Given the description of an element on the screen output the (x, y) to click on. 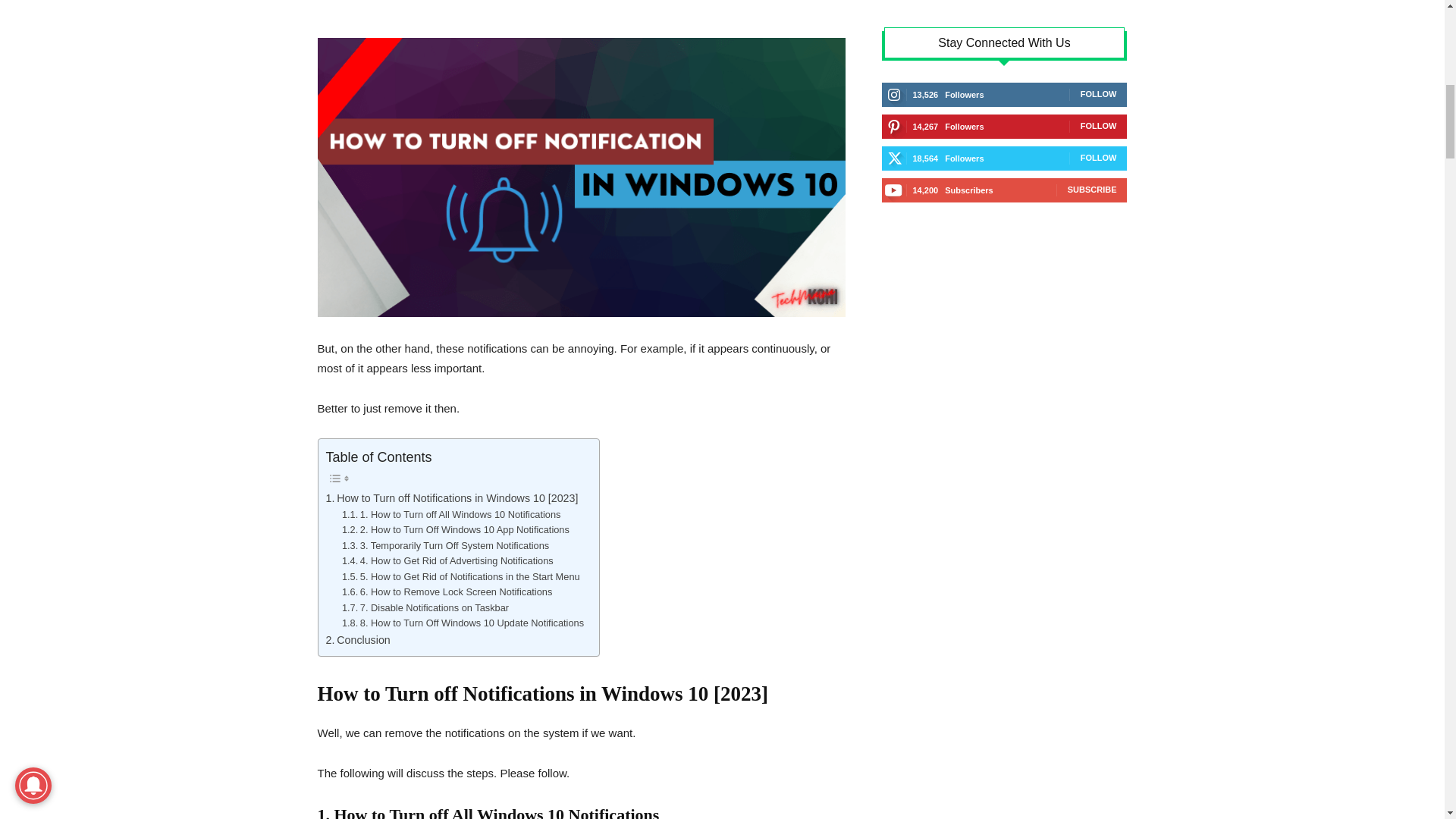
1. How to Turn off All Windows 10 Notifications (451, 514)
6. How to Remove Lock Screen Notifications (446, 592)
4. How to Get Rid of Advertising Notifications (447, 561)
1. How to Turn off All Windows 10 Notifications (451, 514)
4. How to Get Rid of Advertising Notifications (447, 561)
3. Temporarily Turn Off System Notifications (445, 546)
Advertisement (580, 15)
2. How to Turn Off Windows 10 App Notifications (455, 530)
3. Temporarily Turn Off System Notifications (445, 546)
5. How to Get Rid of Notifications in the Start Menu (460, 577)
2. How to Turn Off Windows 10 App Notifications (455, 530)
